Given the description of an element on the screen output the (x, y) to click on. 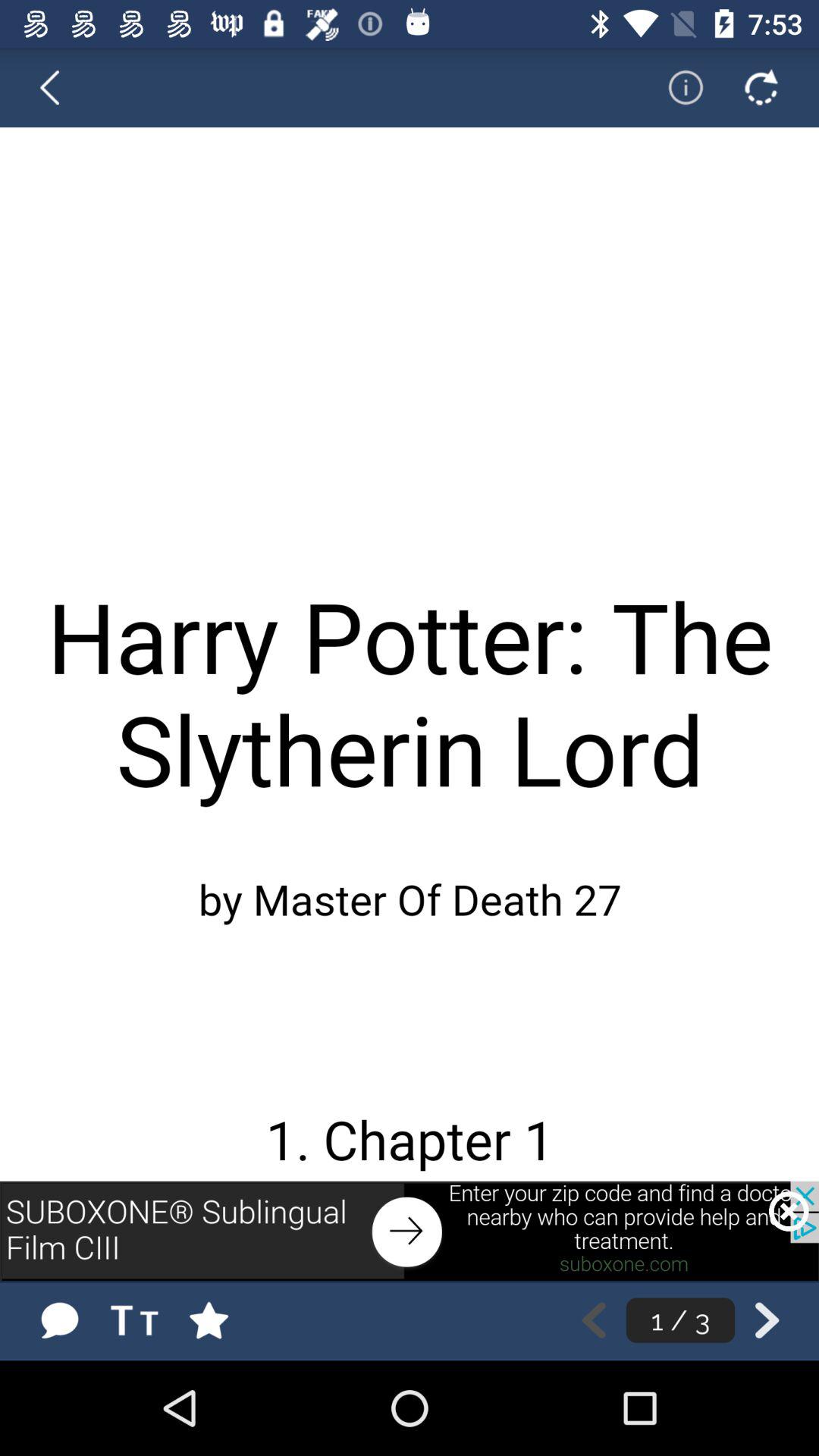
send message (59, 1320)
